Given the description of an element on the screen output the (x, y) to click on. 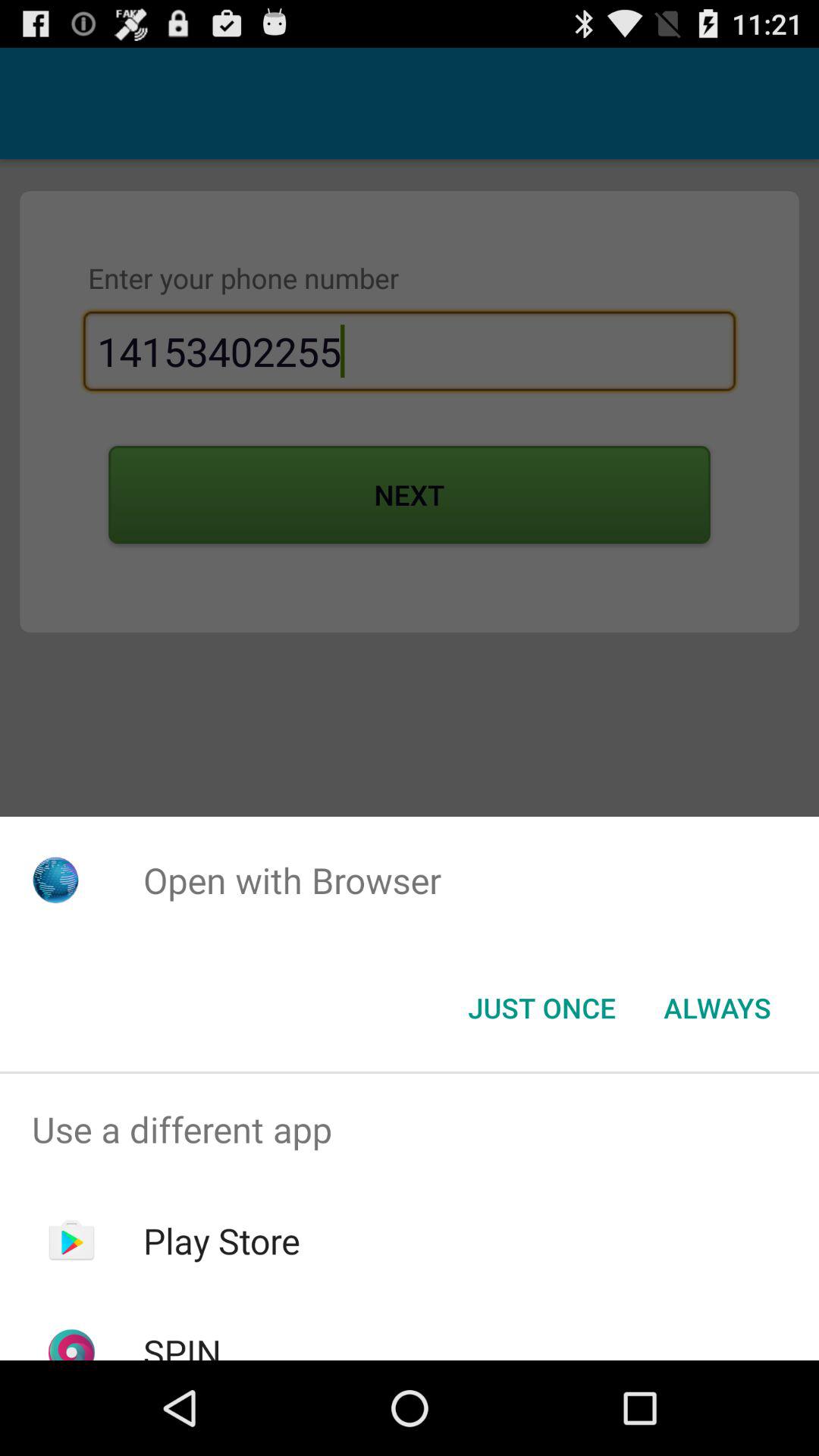
tap item below the play store item (182, 1344)
